Given the description of an element on the screen output the (x, y) to click on. 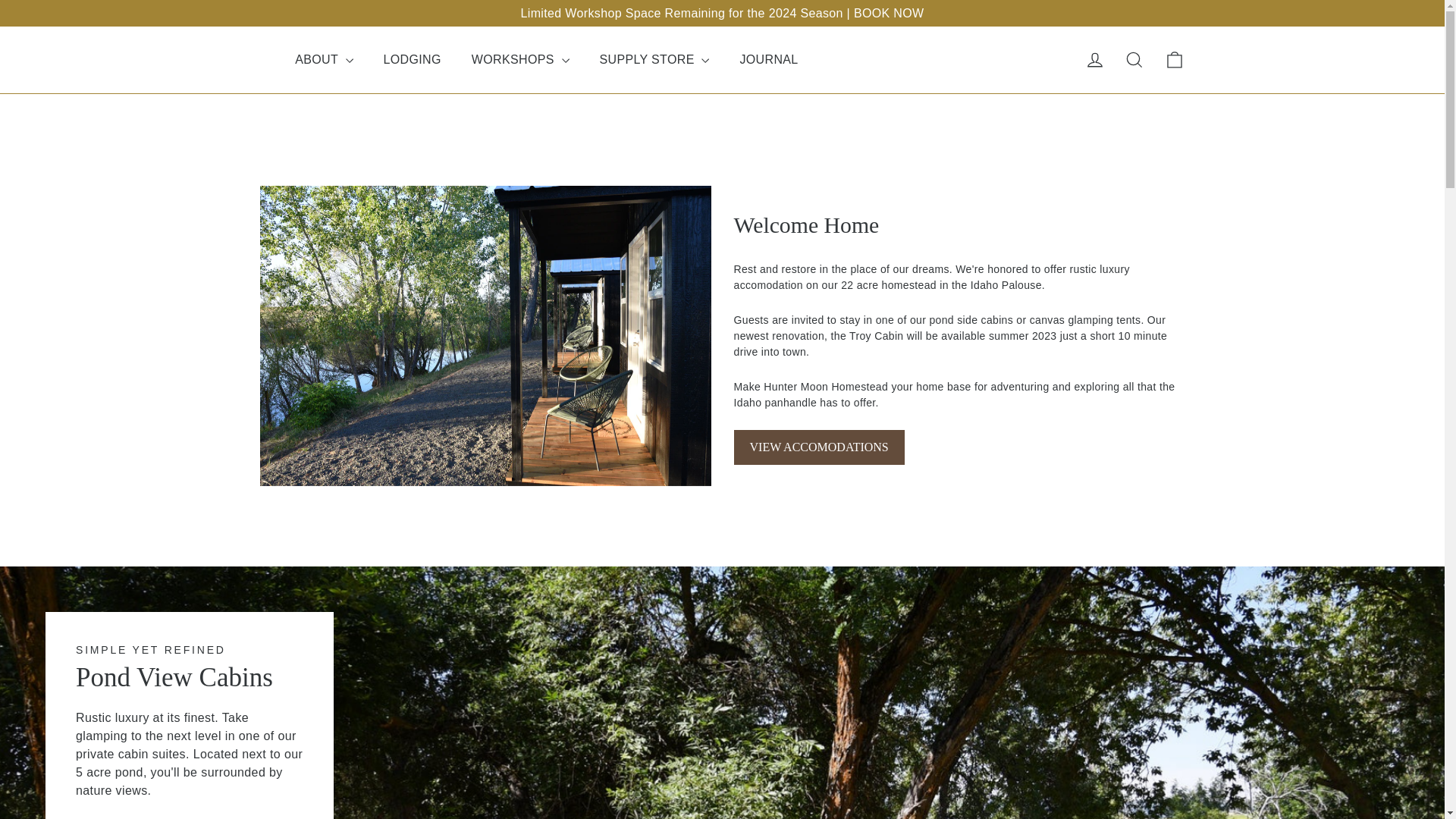
icon-search (1134, 59)
account (1094, 59)
LODGING (412, 59)
icon-bag-minimal (1174, 59)
